Given the description of an element on the screen output the (x, y) to click on. 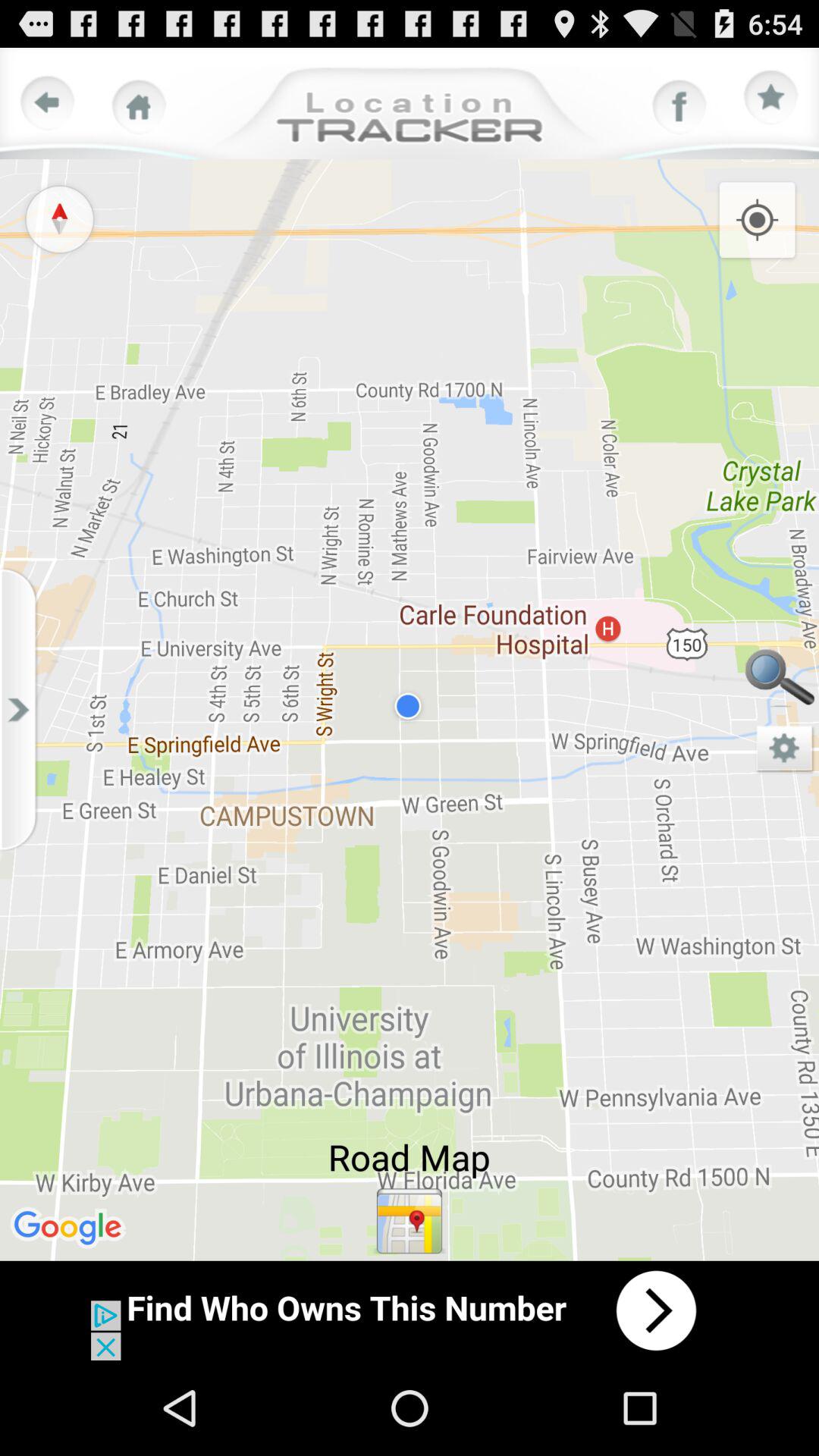
side arrow button (23, 709)
